Given the description of an element on the screen output the (x, y) to click on. 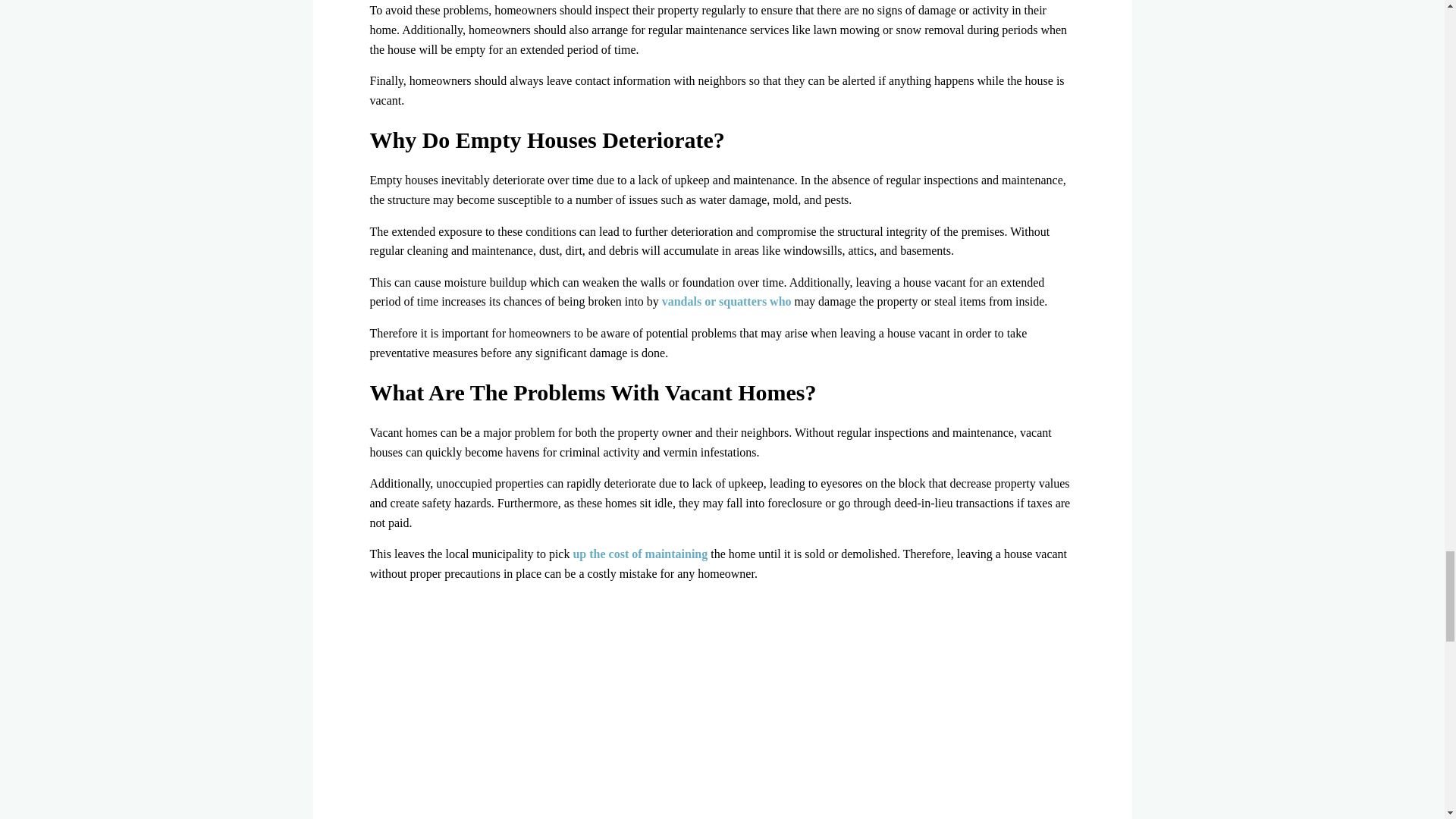
up the cost of maintaining (639, 553)
YouTube video player (721, 707)
vandals or squatters who (727, 300)
